Given the description of an element on the screen output the (x, y) to click on. 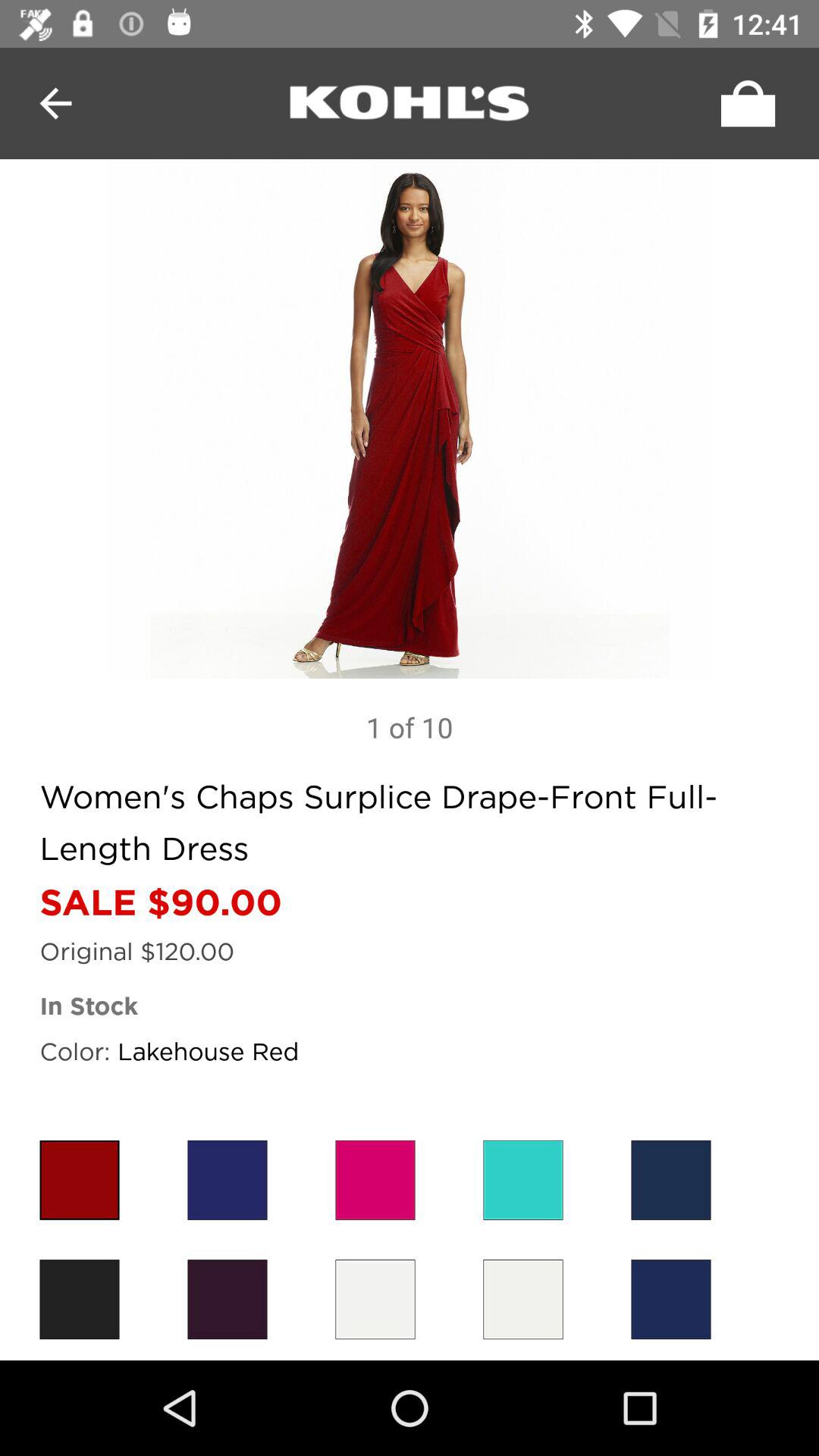
go do couler (375, 1299)
